Given the description of an element on the screen output the (x, y) to click on. 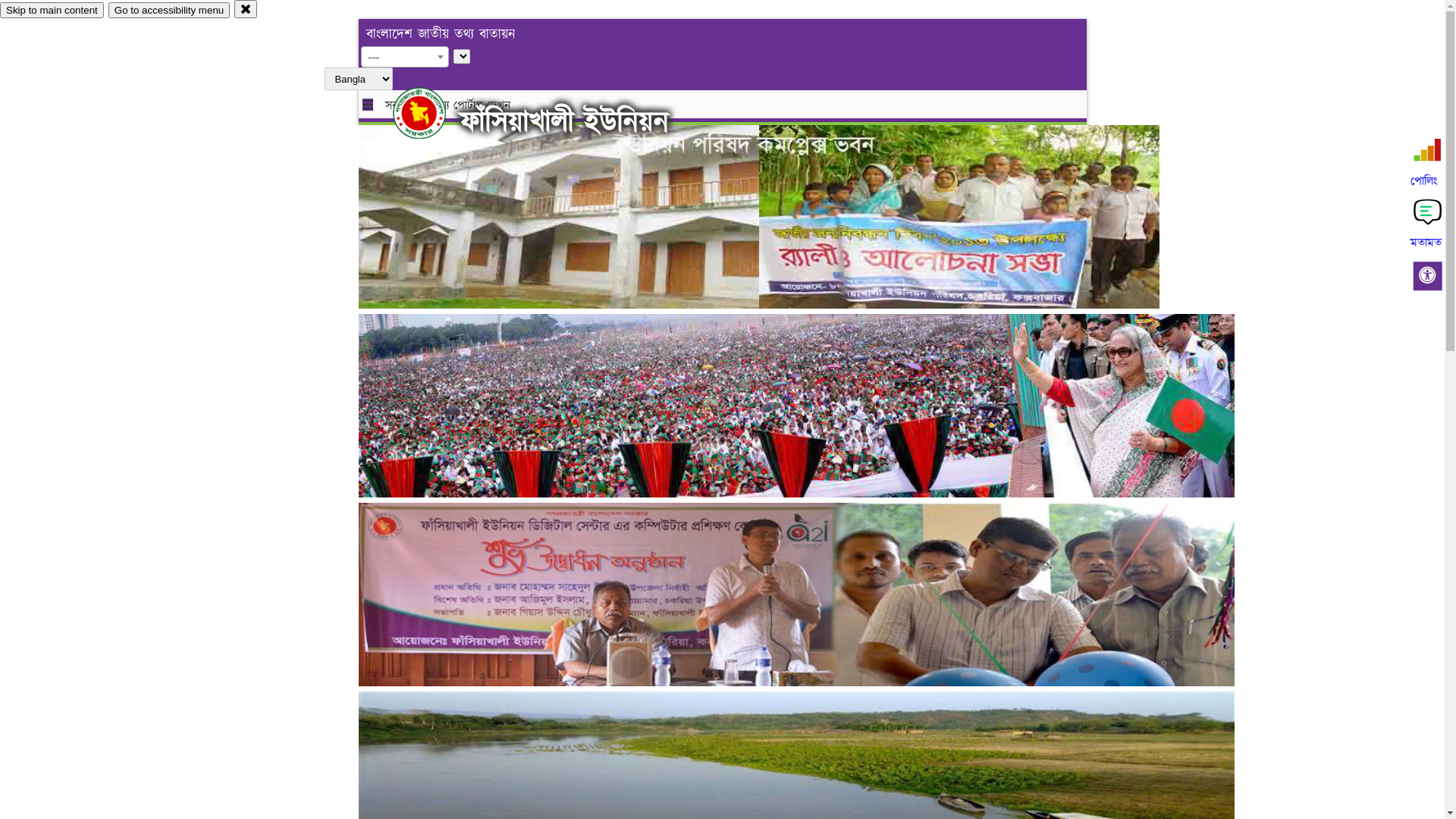
Skip to main content Element type: text (51, 10)
Go to accessibility menu Element type: text (168, 10)
close Element type: hover (245, 9)

                
             Element type: hover (431, 112)
